Given the description of an element on the screen output the (x, y) to click on. 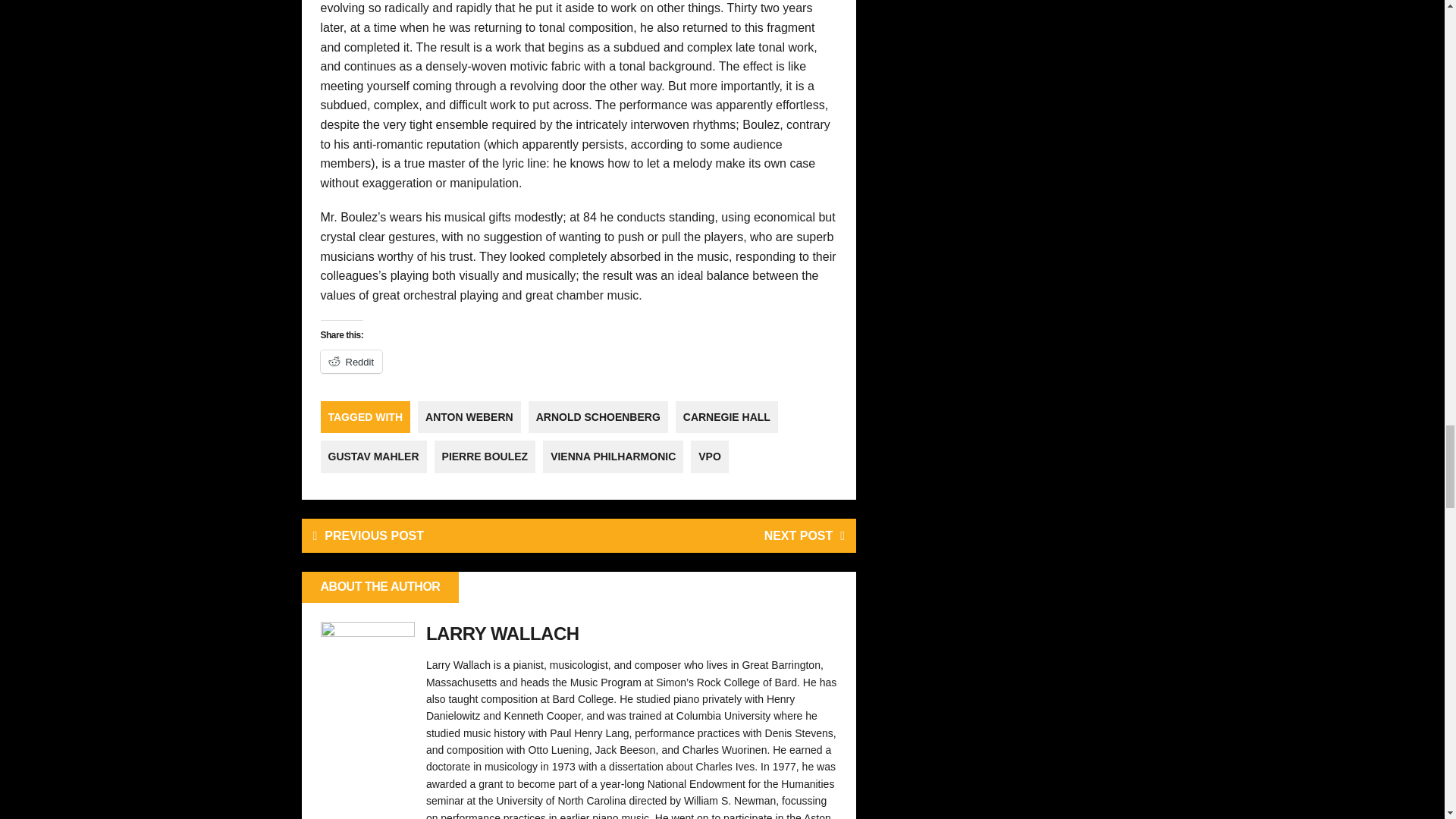
Click to share on Reddit (350, 361)
